Given the description of an element on the screen output the (x, y) to click on. 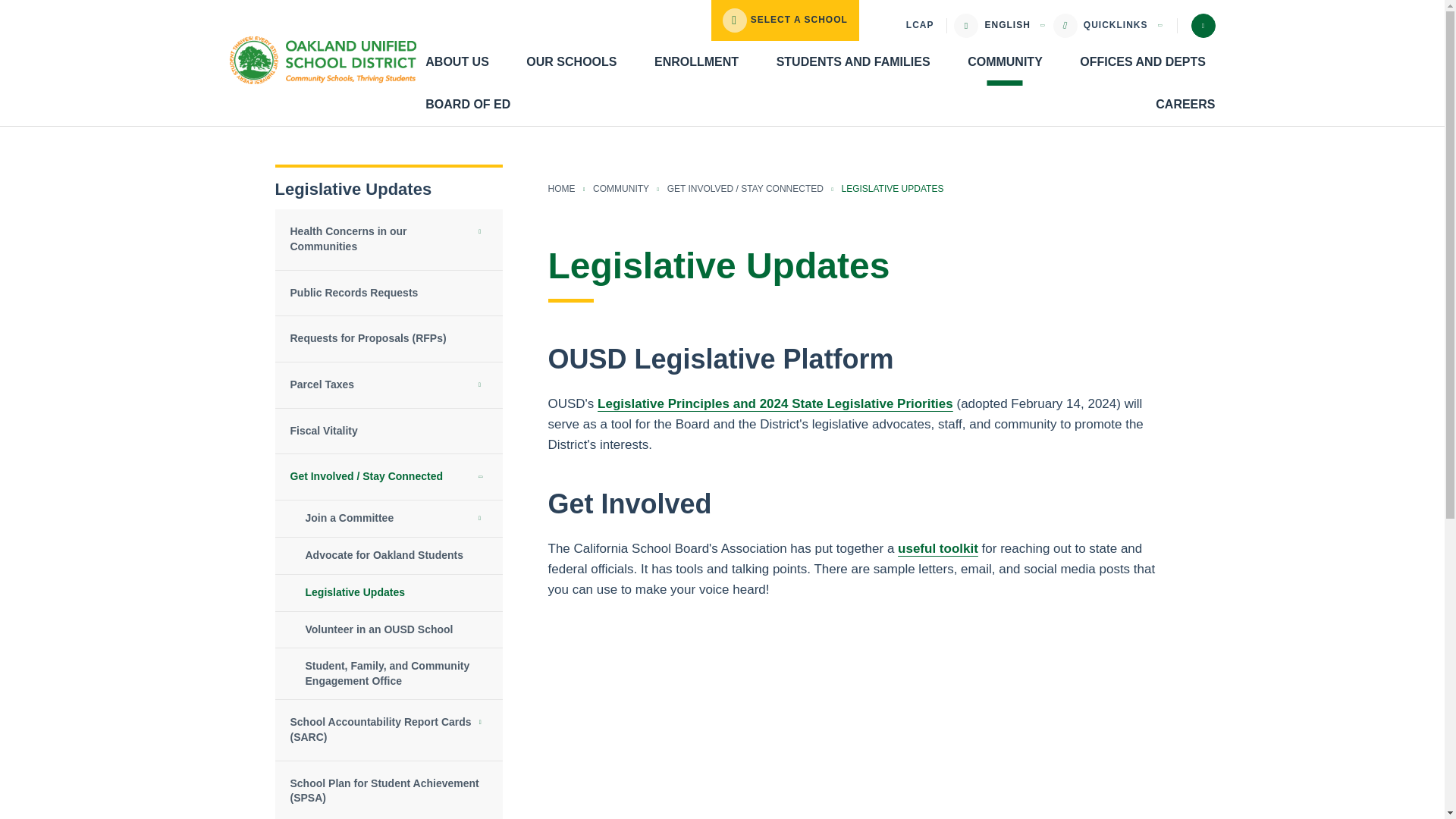
2024 Legislative Priorities (774, 403)
